Given the description of an element on the screen output the (x, y) to click on. 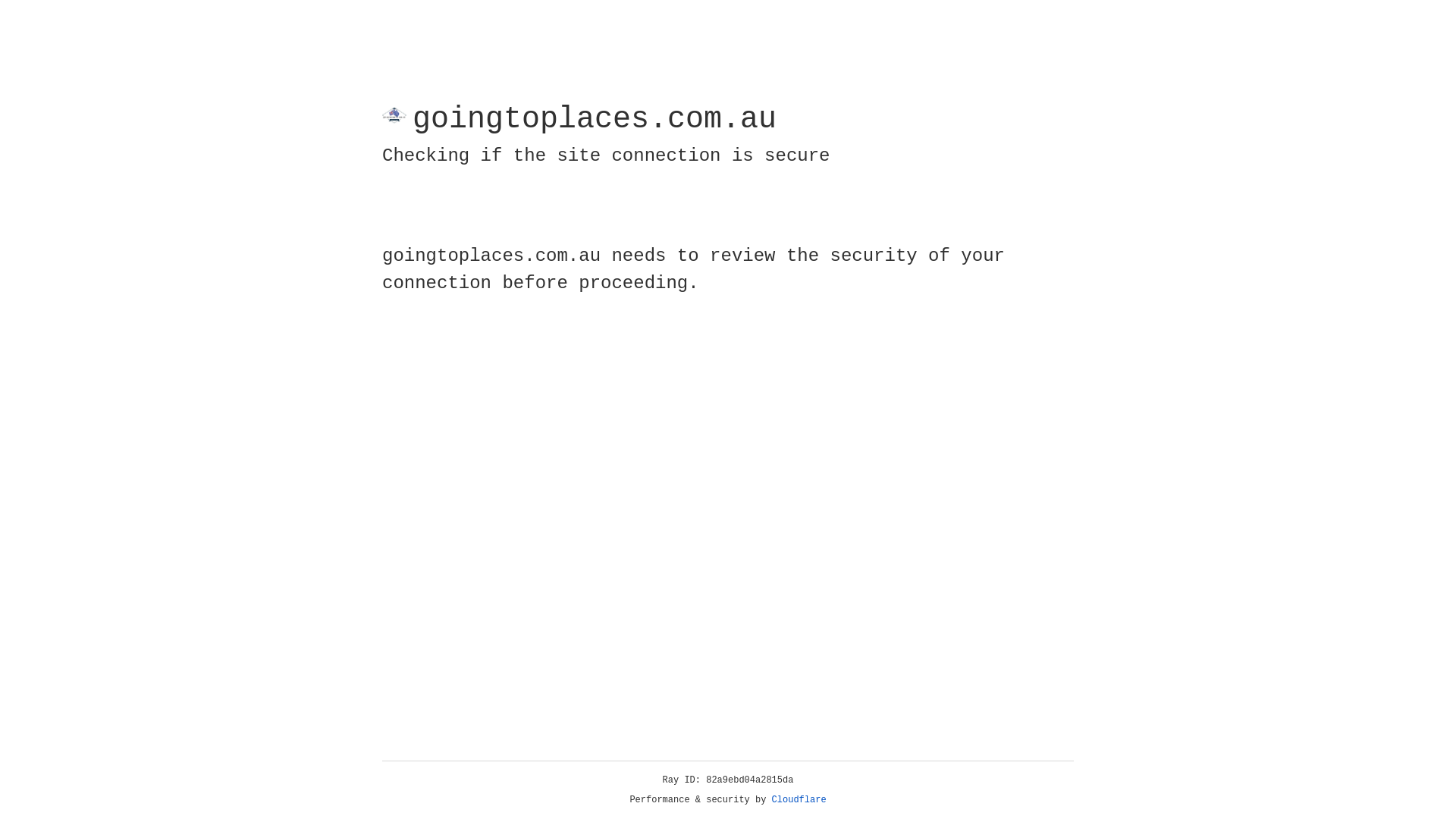
Cloudflare Element type: text (798, 799)
